Given the description of an element on the screen output the (x, y) to click on. 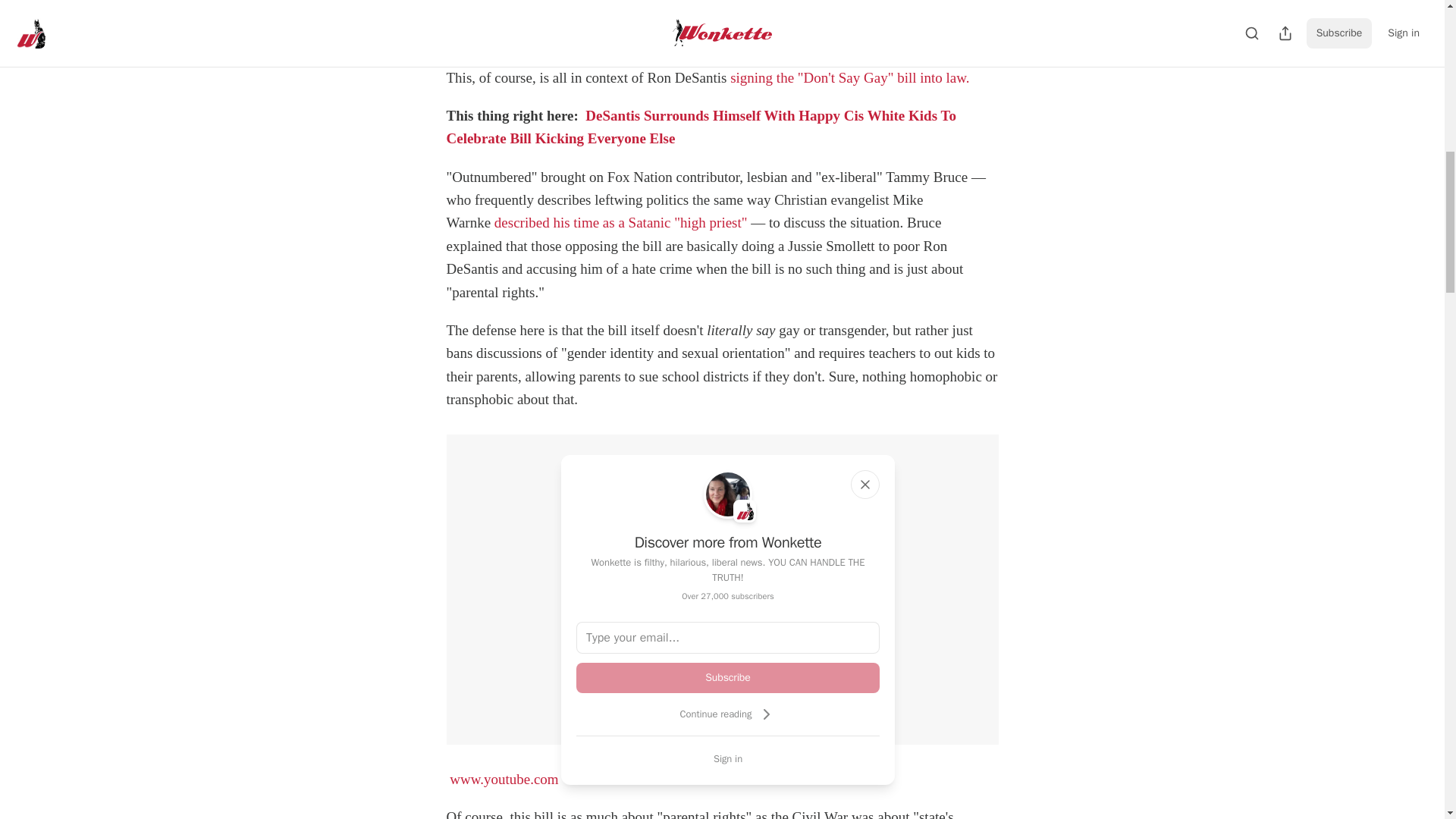
www.youtube.com (503, 779)
described his time as a Satanic "high priest" (621, 222)
Sign in (727, 758)
Subscribe (727, 677)
signing the "Don't Say Gay" bill into law. (849, 77)
